Given the description of an element on the screen output the (x, y) to click on. 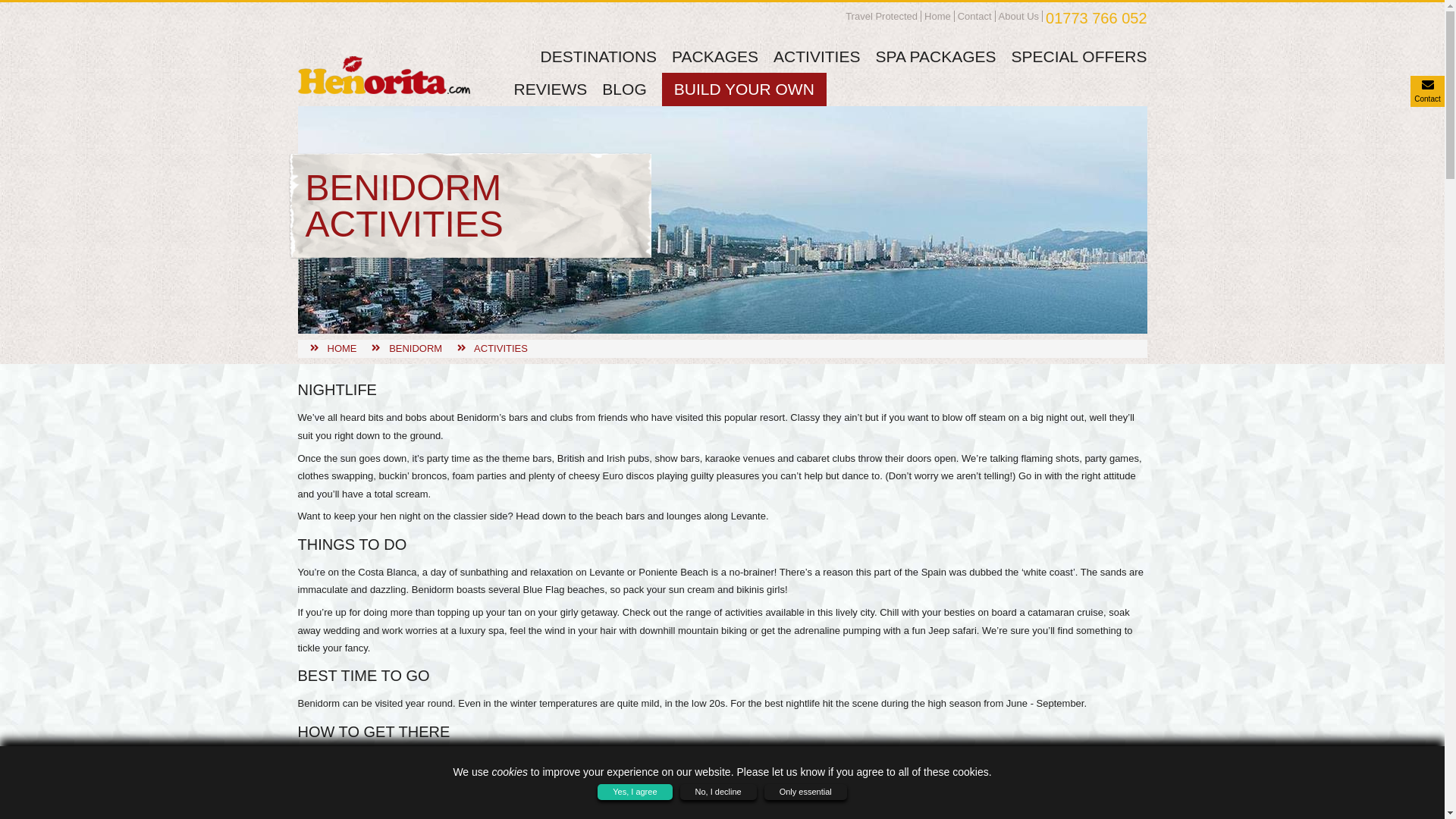
ACTIVITIES (816, 55)
Contact (974, 16)
About Us (1018, 16)
Home (937, 16)
SPA PACKAGES (935, 55)
BLOG (624, 88)
ACTIVITIES (500, 348)
HOME (341, 348)
BUILD YOUR OWN (743, 88)
SPECIAL OFFERS (1079, 55)
DESTINATIONS (598, 55)
PACKAGES (714, 55)
REVIEWS (550, 88)
BENIDORM (415, 348)
01773 766 052 (1096, 17)
